Given the description of an element on the screen output the (x, y) to click on. 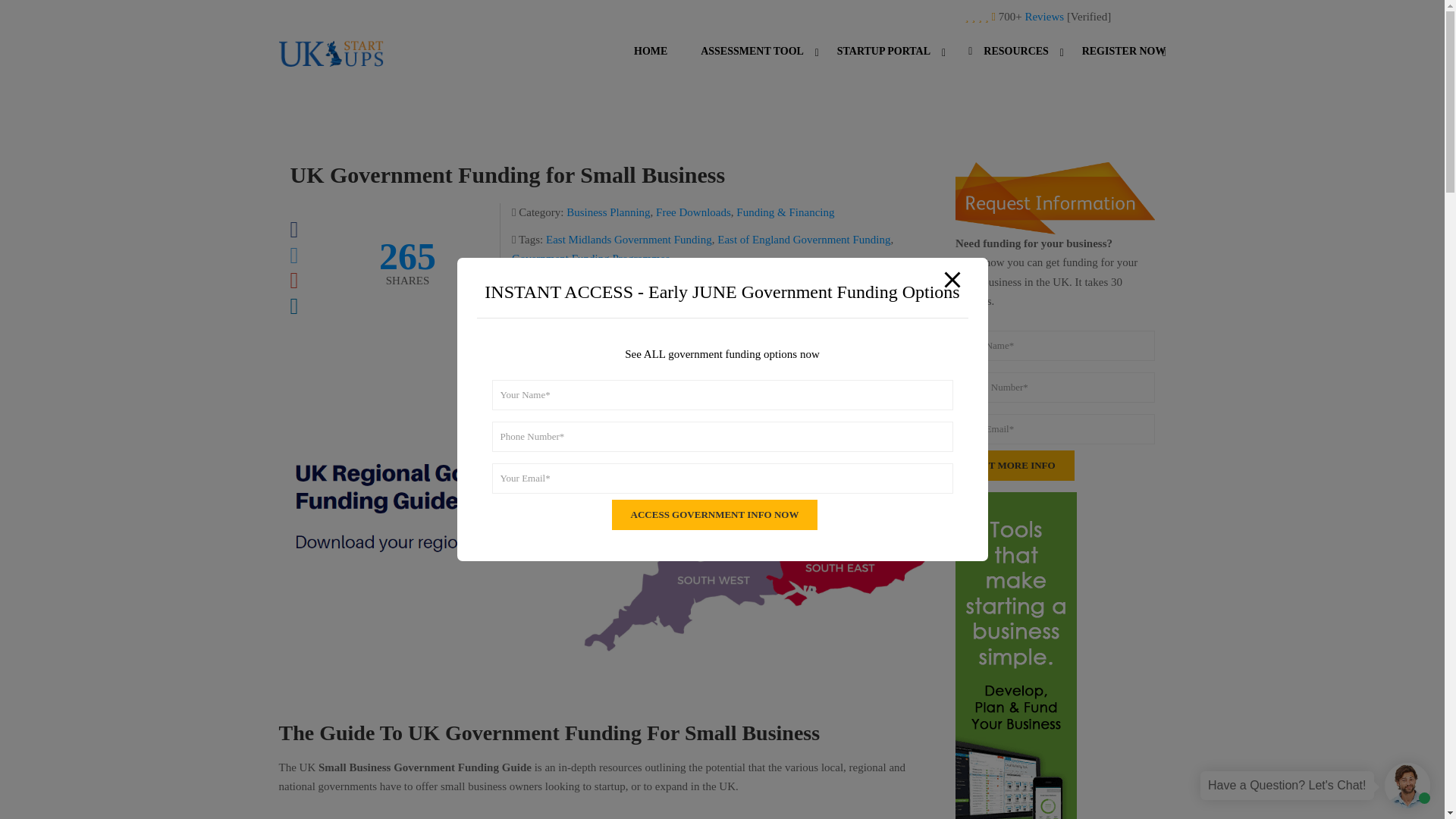
REGISTER NOW (1116, 62)
Get More Info (1014, 465)
ASSESSMENT TOOL (751, 62)
HOME (650, 62)
STARTUP PORTAL (883, 62)
Access Government Info Now (714, 514)
UK Small Business Startups and Funding -  (331, 61)
RESOURCES (1006, 62)
Reviews (1044, 16)
